Given the description of an element on the screen output the (x, y) to click on. 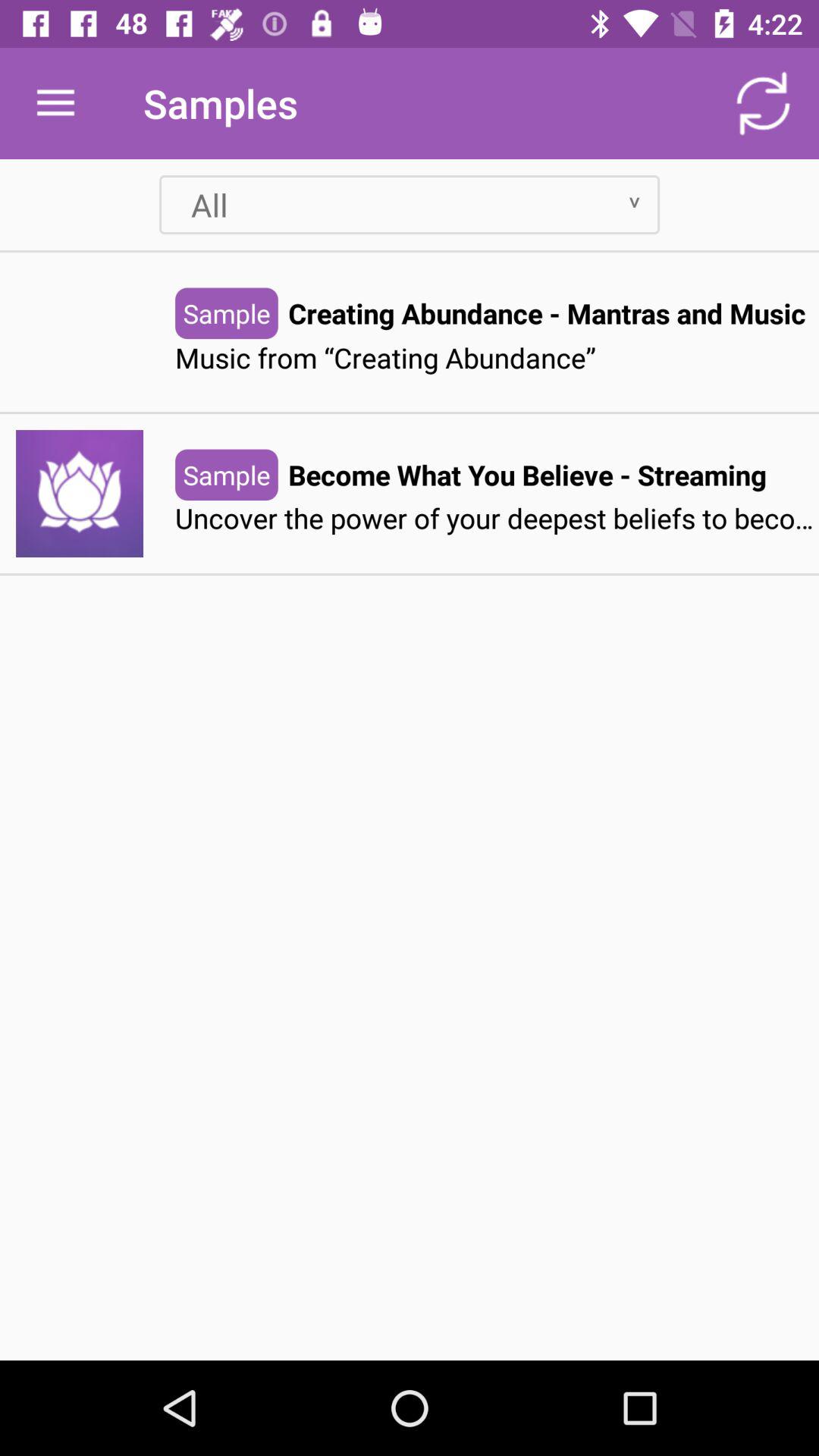
tap the item to the left of the samples icon (55, 103)
